Given the description of an element on the screen output the (x, y) to click on. 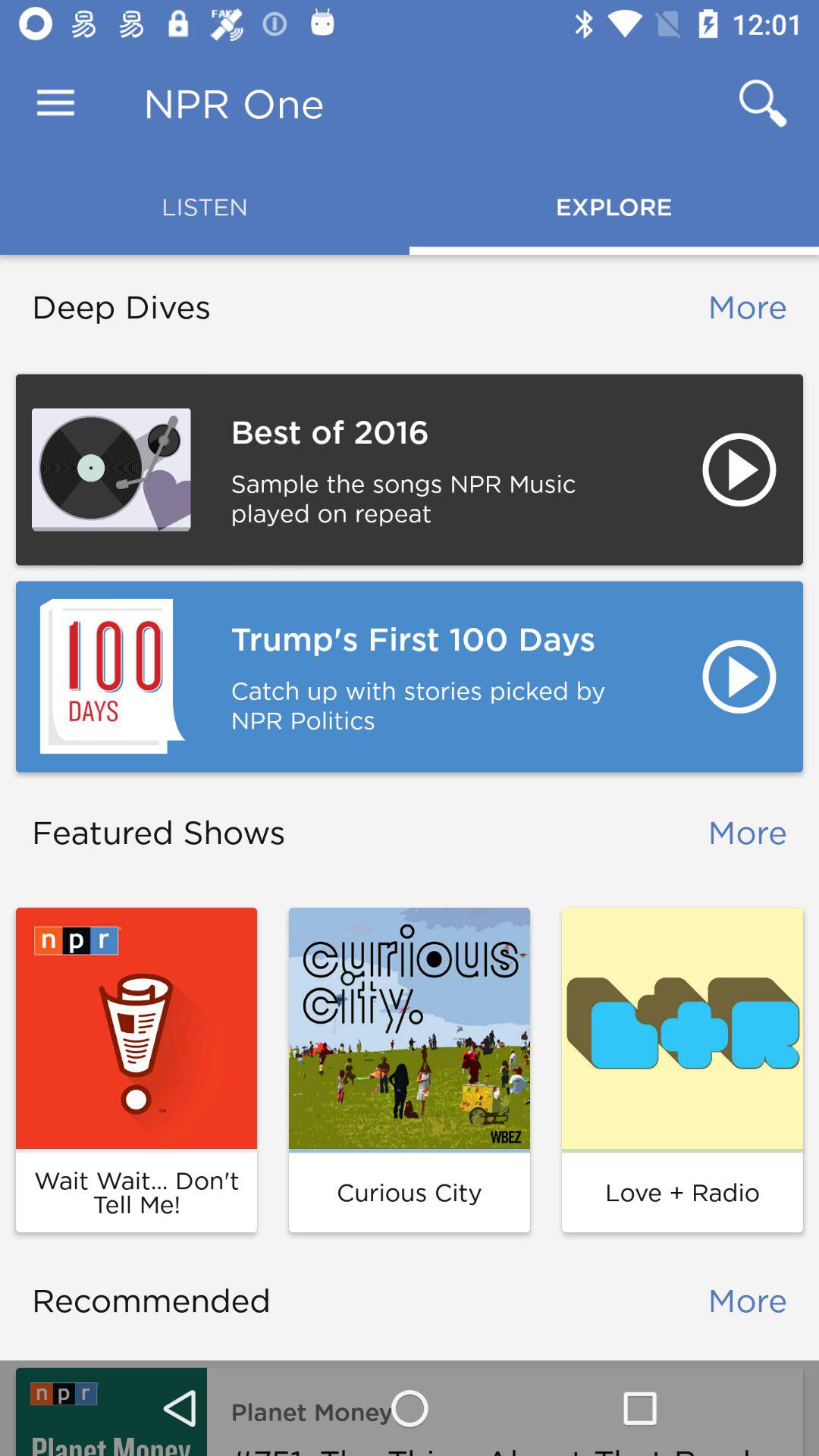
tap item to the left of the npr one icon (55, 103)
